Given the description of an element on the screen output the (x, y) to click on. 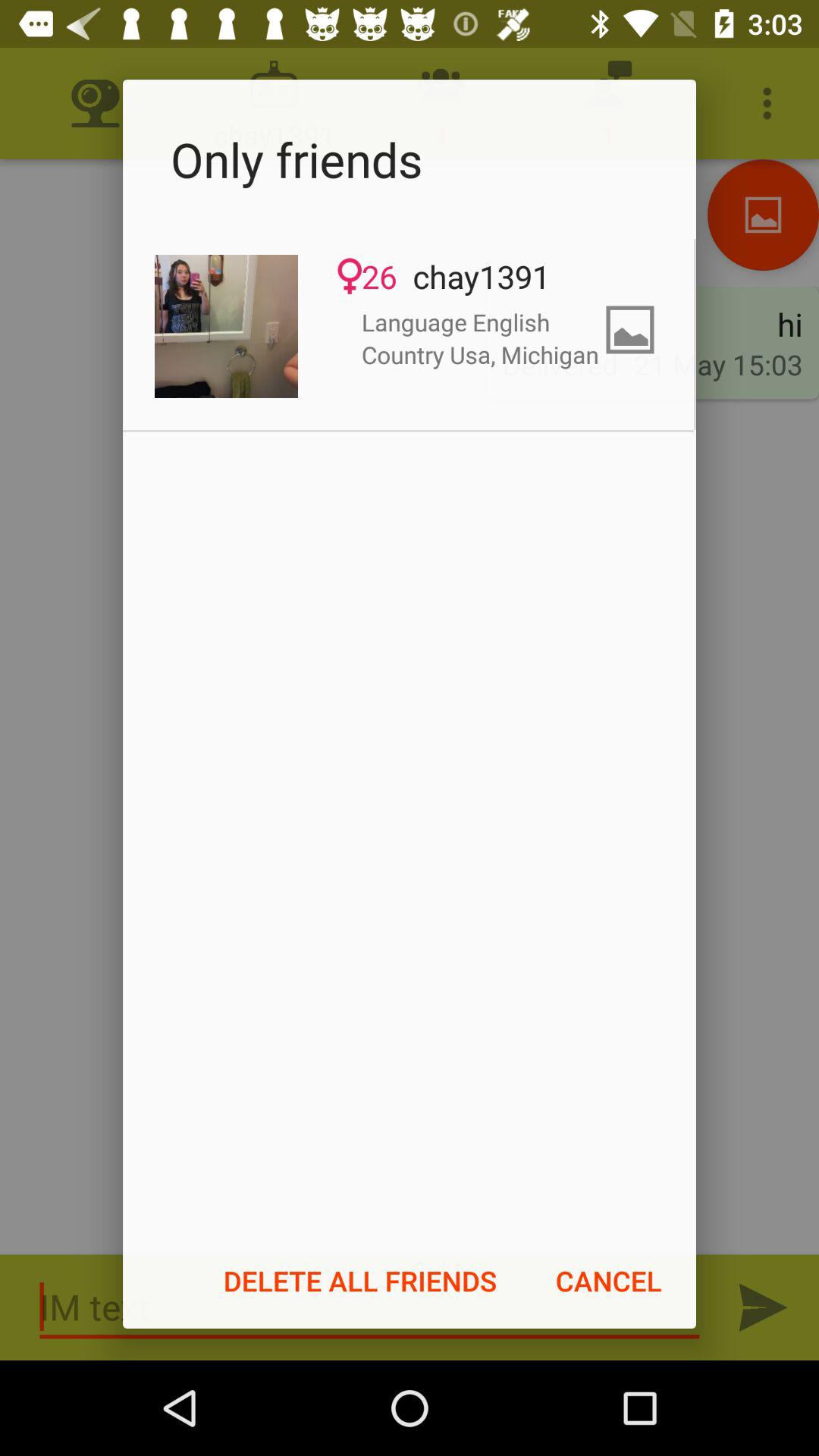
press icon to the left of 26 item (226, 326)
